Given the description of an element on the screen output the (x, y) to click on. 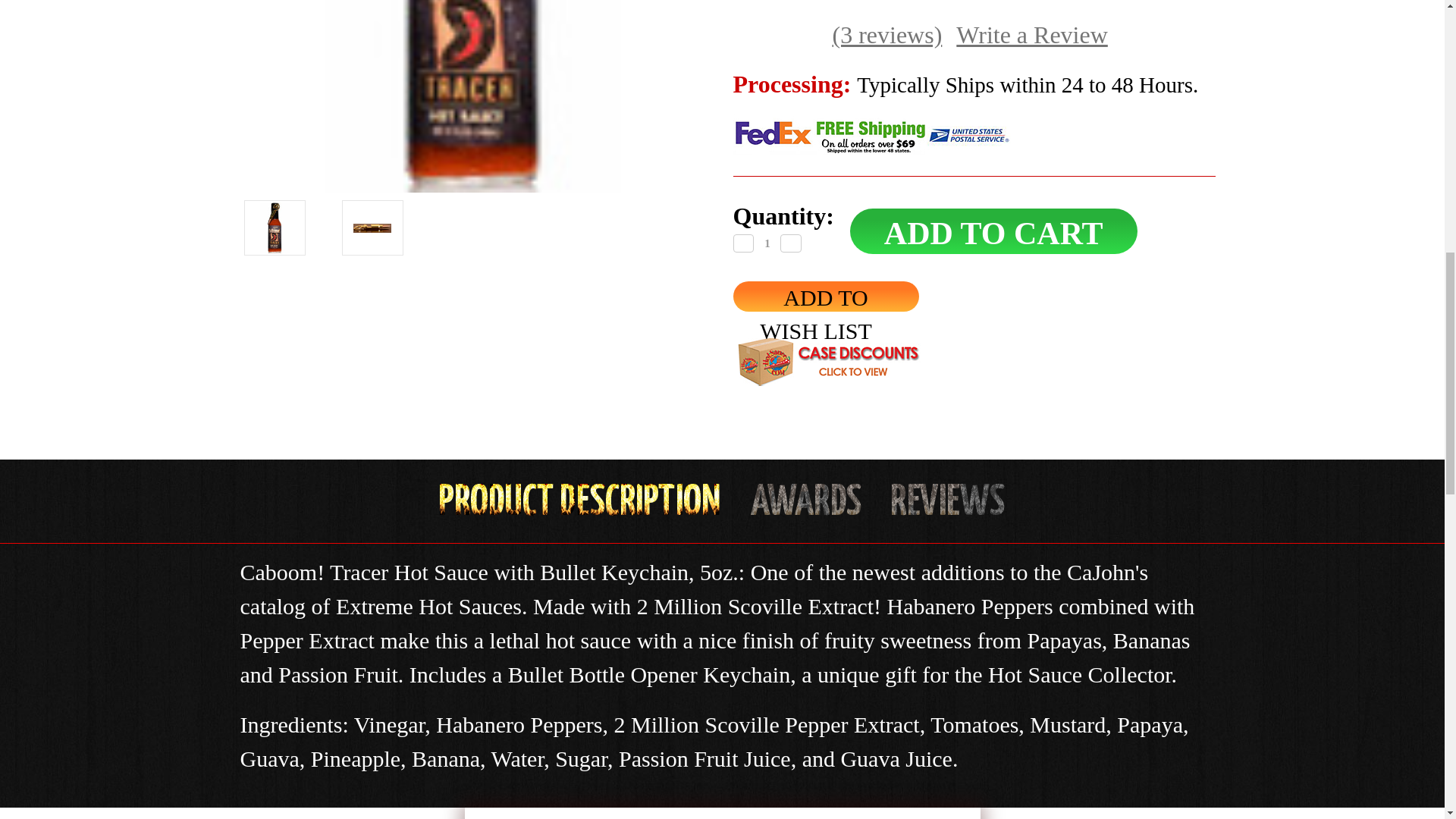
1 (767, 243)
Caboom! Tracer Hot Sauce with Bullet Keychain, 5oz. (470, 95)
Add to Cart (993, 230)
